Given the description of an element on the screen output the (x, y) to click on. 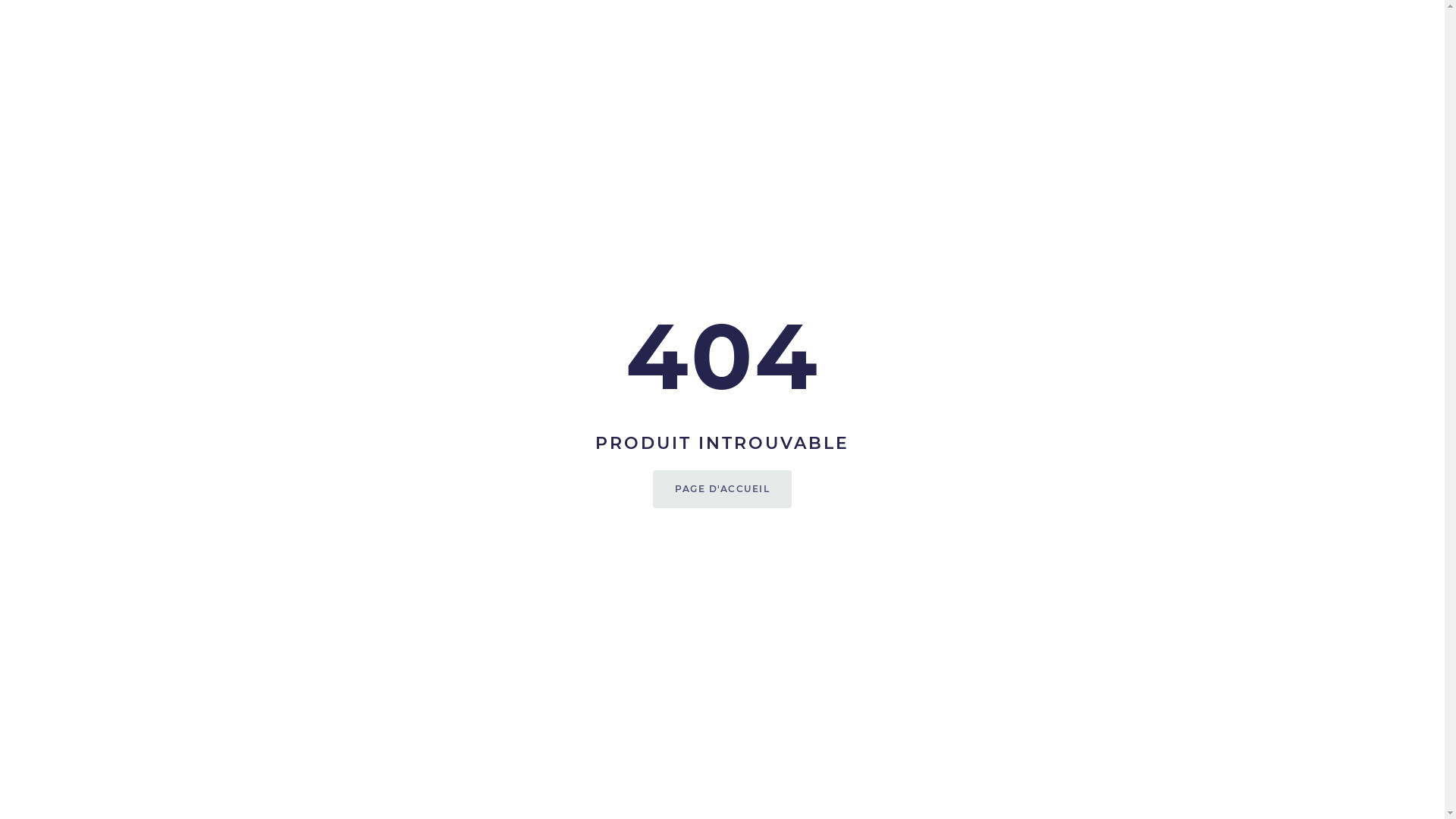
PAGE D'ACCUEIL Element type: text (721, 489)
